Given the description of an element on the screen output the (x, y) to click on. 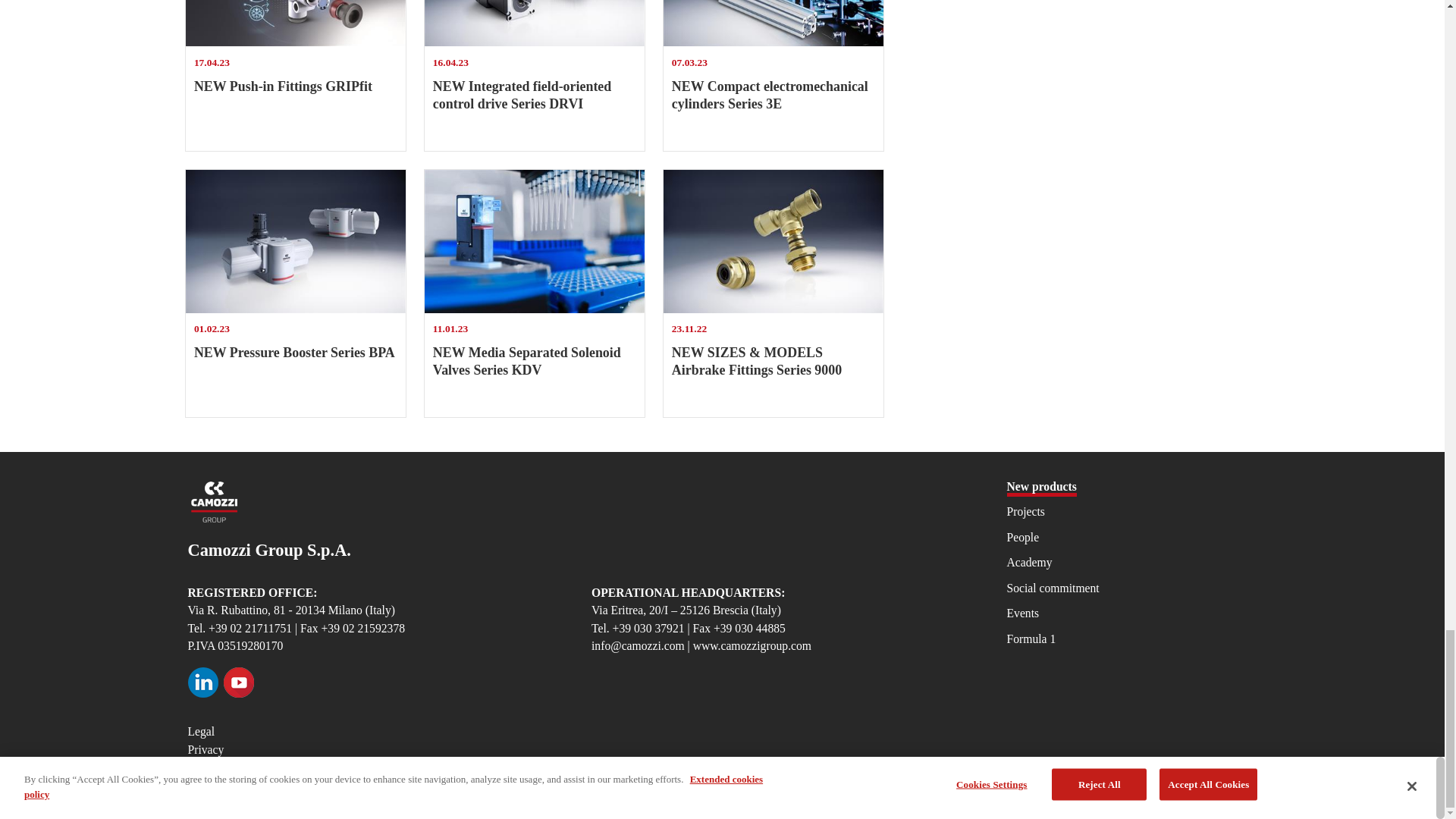
NEW Compact electromechanical cylinders Series 3E (295, 293)
NEW Pressure Booster Series BPA (773, 23)
NEW Media Separated Solenoid Valves Series KDV (296, 241)
NEW Integrated field-oriented control drive Series DRVI (535, 240)
NEW Push-in Fittings GRIPfit (535, 24)
